Given the description of an element on the screen output the (x, y) to click on. 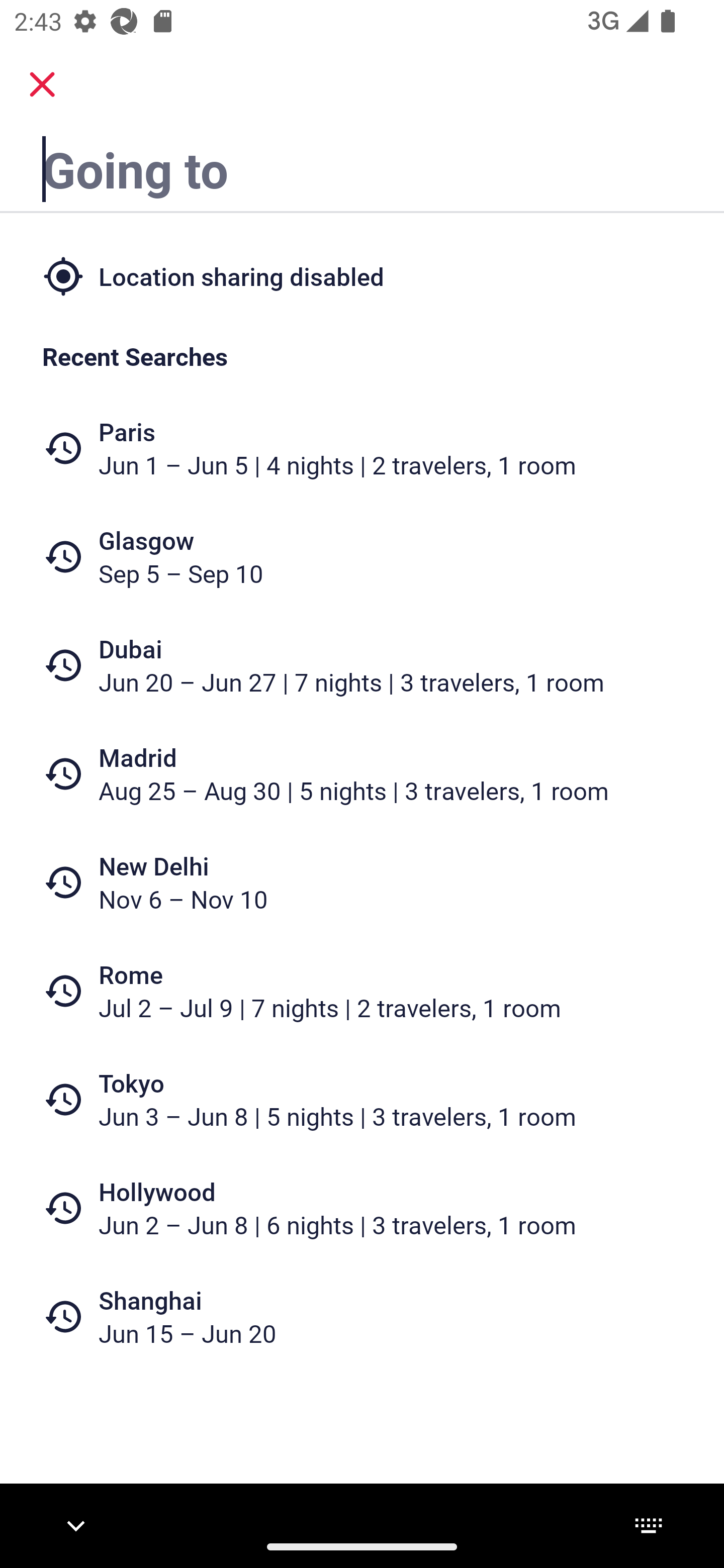
close. (42, 84)
Location sharing disabled (362, 275)
Glasgow Sep 5 – Sep 10 (362, 557)
New Delhi Nov 6 – Nov 10 (362, 881)
Shanghai Jun 15 – Jun 20 (362, 1316)
